Given the description of an element on the screen output the (x, y) to click on. 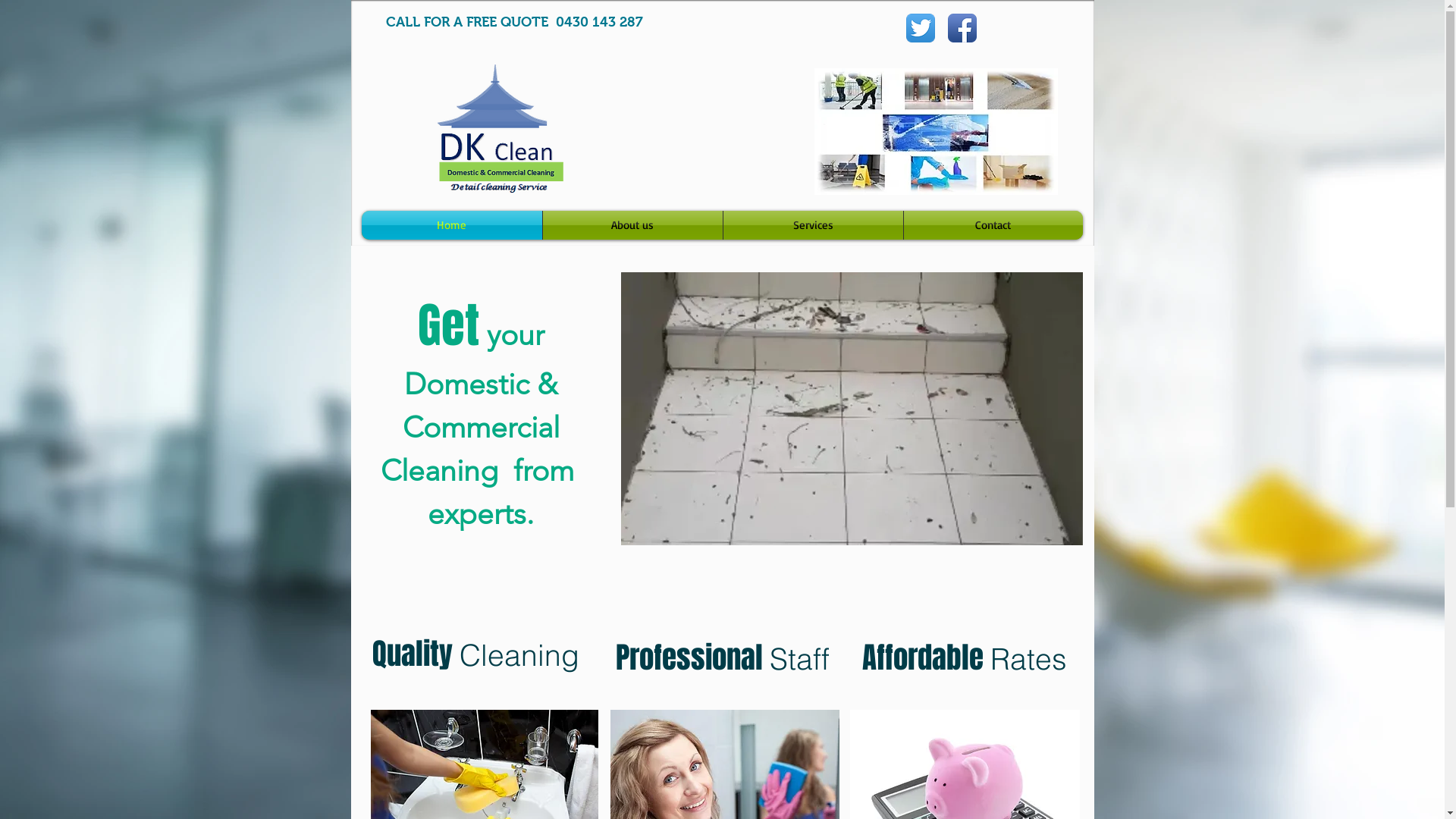
Services Element type: text (813, 224)
Home Element type: text (450, 224)
About us Element type: text (632, 224)
Affordable Rates Element type: text (964, 657)
your Element type: text (511, 334)
Quality Cleaning Element type: text (475, 653)
Contact Element type: text (992, 224)
DKclean.png Element type: hover (491, 129)
Professional Staff Element type: text (722, 657)
Get Element type: text (447, 325)
